Given the description of an element on the screen output the (x, y) to click on. 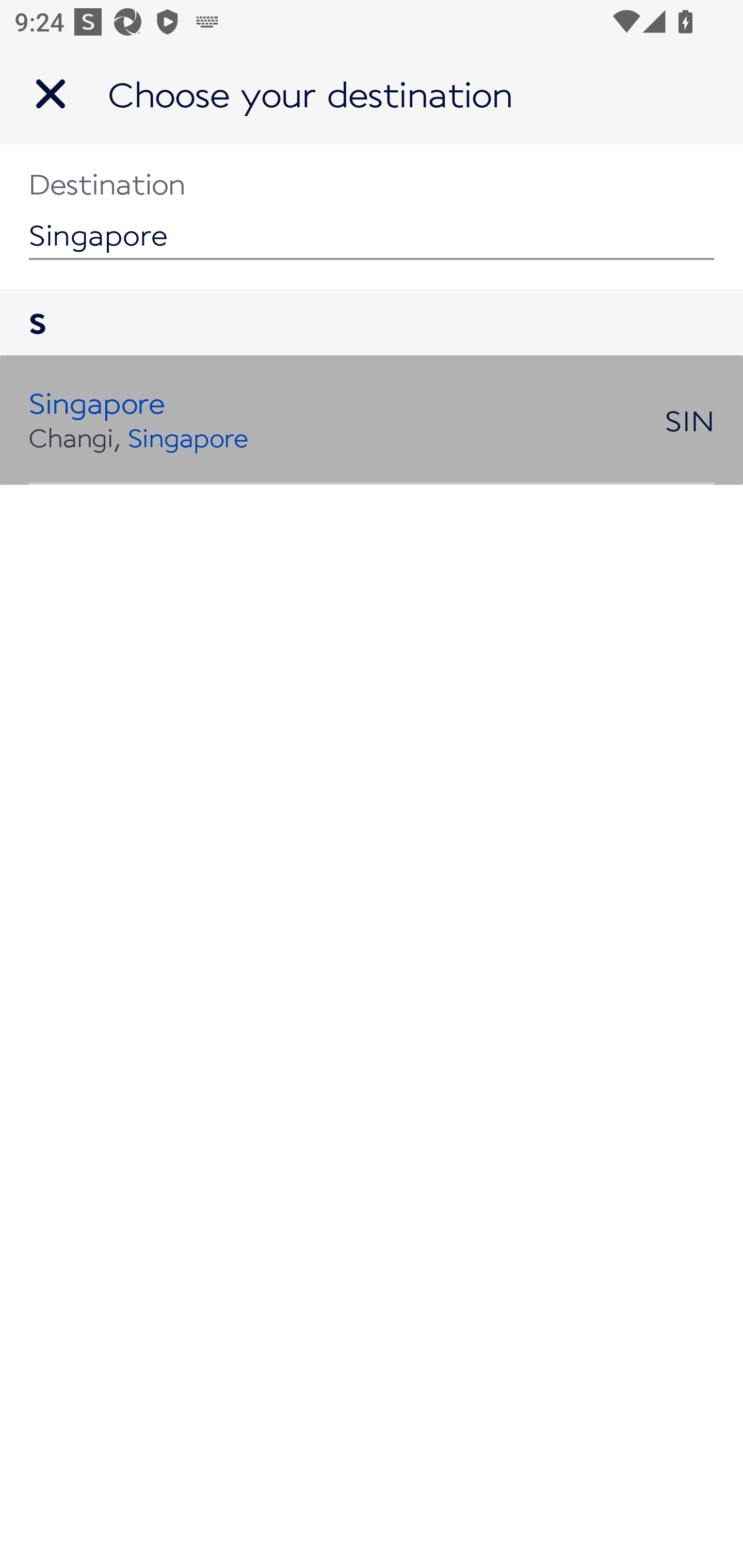
Navigate up (50, 93)
Singapore (371, 216)
Singapore Changi, Singapore SIN (371, 419)
